Given the description of an element on the screen output the (x, y) to click on. 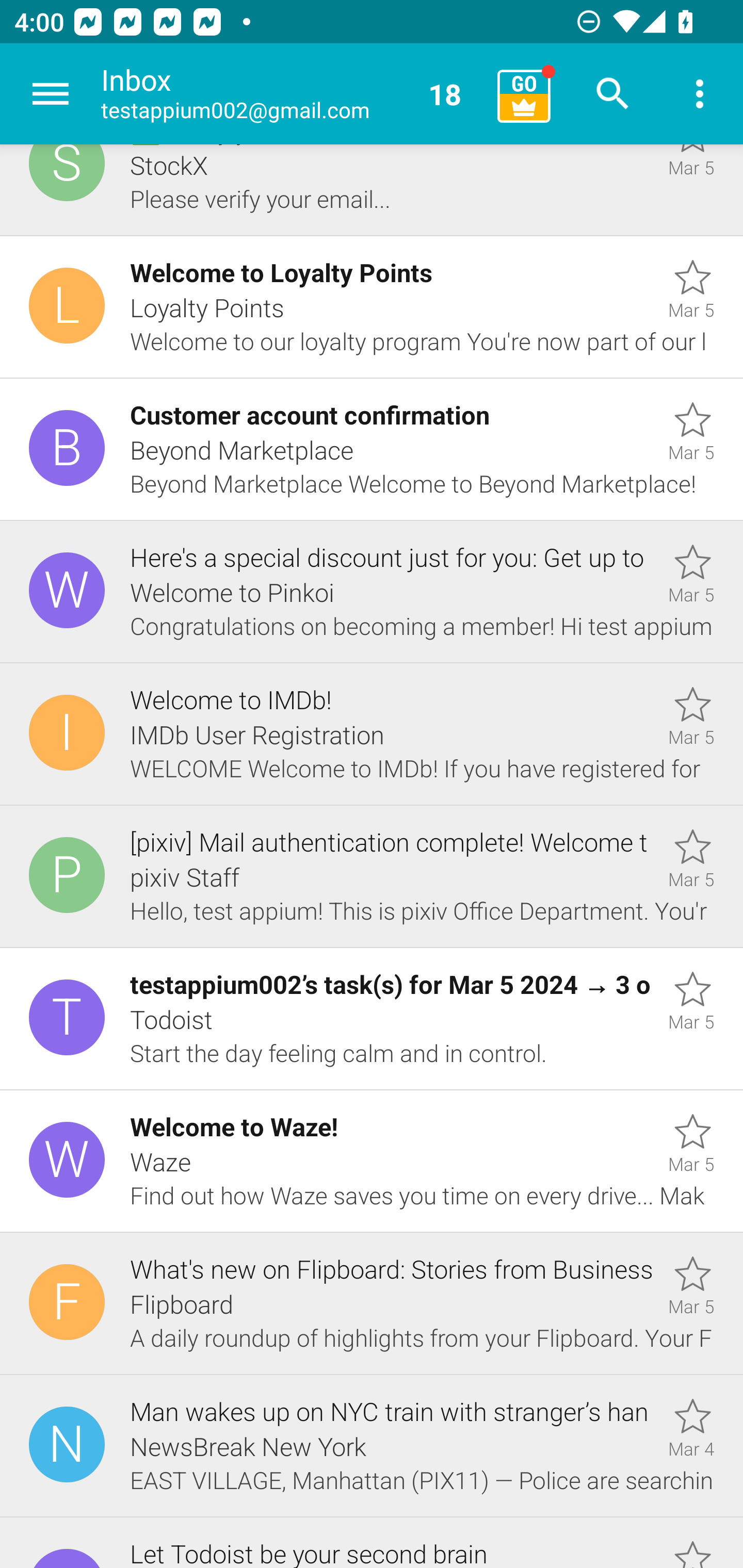
Navigate up (50, 93)
Inbox testappium002@gmail.com 18 (291, 93)
Search (612, 93)
More options (699, 93)
